Given the description of an element on the screen output the (x, y) to click on. 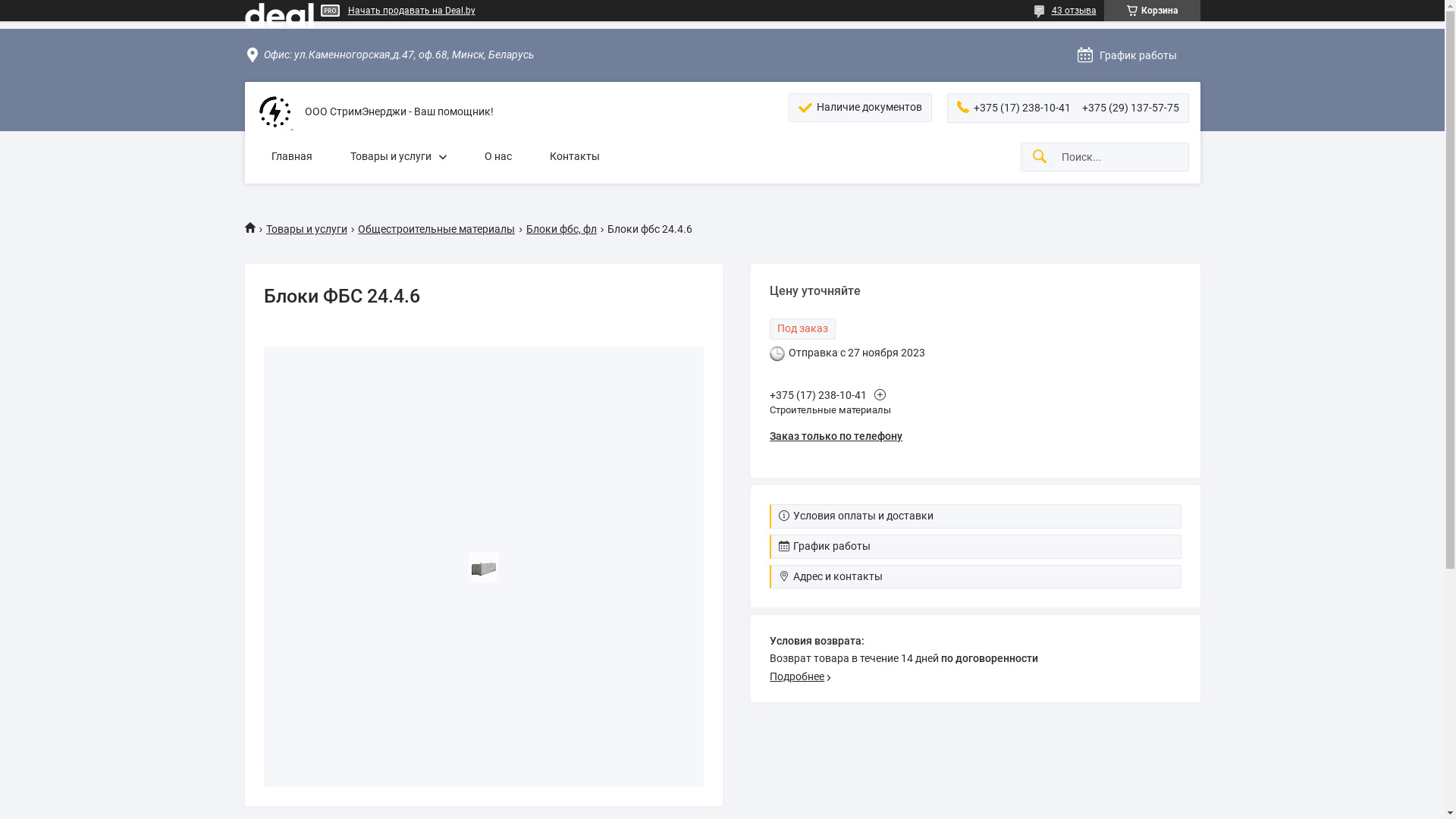
WWW.STREAMENERGY.BY Element type: hover (274, 111)
Www.streamenergy.by Element type: hover (254, 227)
